Given the description of an element on the screen output the (x, y) to click on. 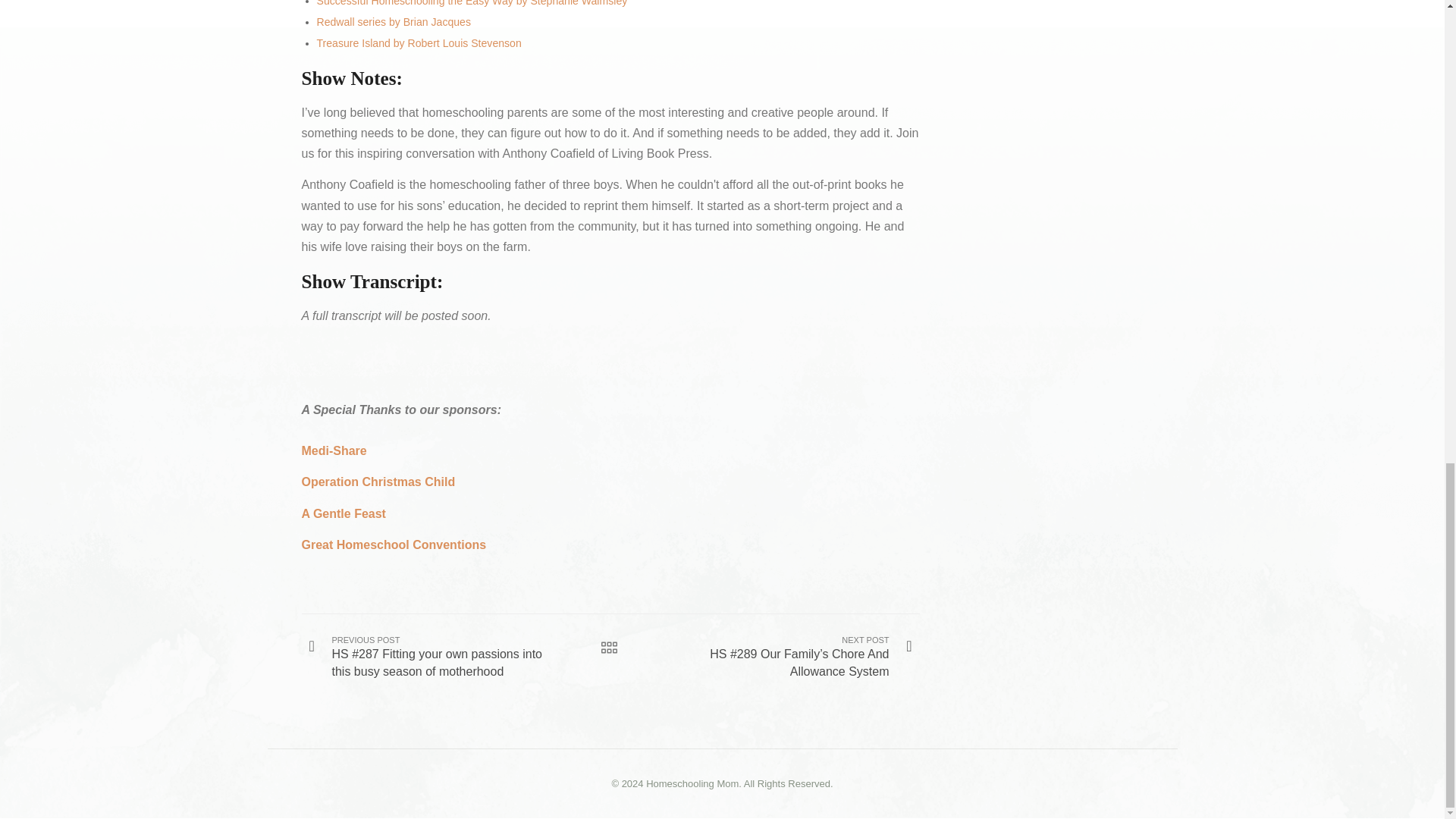
A Gentle Feast (343, 513)
Treasure Island by Robert Louis Stevenson (419, 42)
Operation Christmas Child (378, 481)
Redwall series by Brian Jacques (393, 21)
Great Homeschool Conventions (393, 544)
Medi-Share (333, 450)
Successful Homeschooling the Easy Way by Stephanie Walmsley (472, 3)
